Given the description of an element on the screen output the (x, y) to click on. 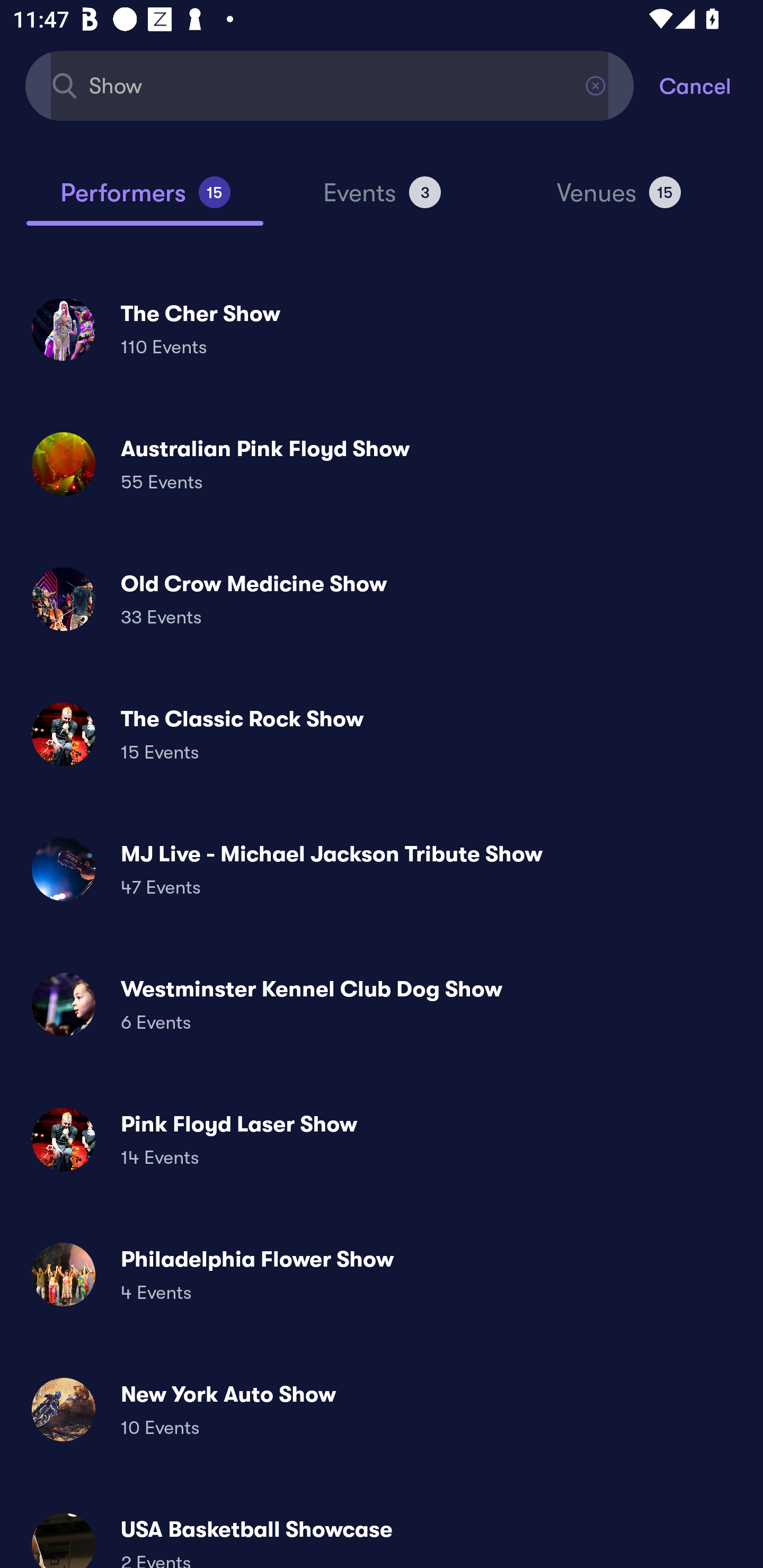
Show Find (329, 85)
Show Find (329, 85)
Cancel (711, 85)
Performers 15 (144, 200)
Events 3 (381, 200)
Venues 15 (618, 200)
The Cher Show 110 Events (381, 328)
Australian Pink Floyd Show 55 Events (381, 464)
Old Crow Medicine Show 33 Events (381, 598)
The Classic Rock Show 15 Events (381, 734)
MJ Live - Michael Jackson Tribute Show 47 Events (381, 869)
Westminster Kennel Club Dog Show 6 Events (381, 1004)
Pink Floyd Laser Show 14 Events (381, 1138)
Philadelphia Flower Show 4 Events (381, 1273)
New York Auto Show 10 Events (381, 1409)
USA Basketball Showcase 2 Events (381, 1532)
